Given the description of an element on the screen output the (x, y) to click on. 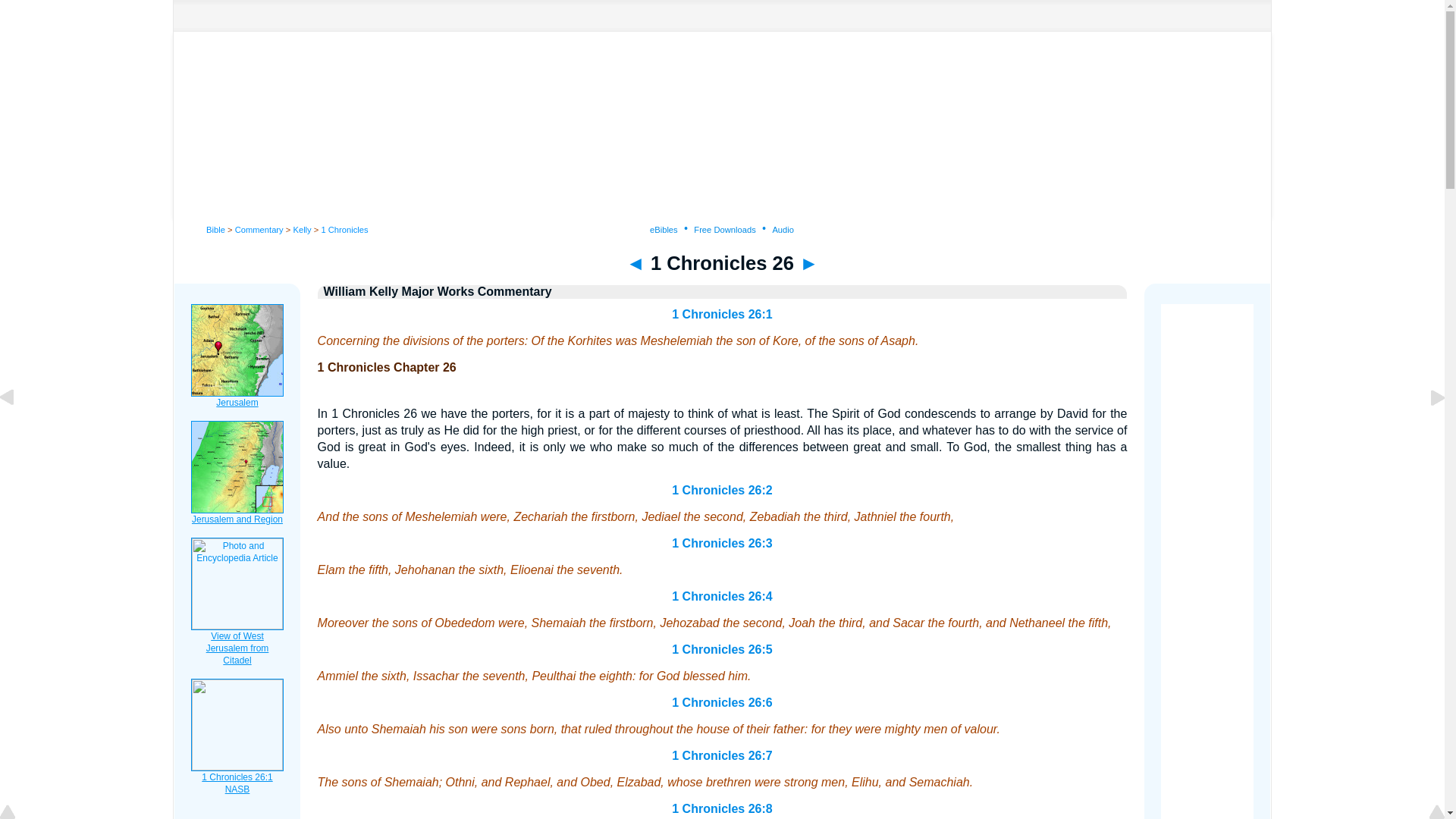
Top of Page (18, 813)
1 Chronicles 26:6 (722, 702)
Bible (215, 229)
1 Chronicles 26:7 (722, 755)
1 Chronicles 25 (635, 262)
1 Chronicles 26:5 (722, 649)
Kelly (301, 229)
1 Chronicles 25 (18, 431)
1 Chronicles 26:2 (722, 490)
1 Chronicles (344, 229)
Commentary (258, 229)
1 Chronicles 26:4 (722, 595)
1 Chronicles 26:1 (722, 314)
1 Chronicles 26:3 (722, 543)
1 Chronicles 27 (808, 262)
